Given the description of an element on the screen output the (x, y) to click on. 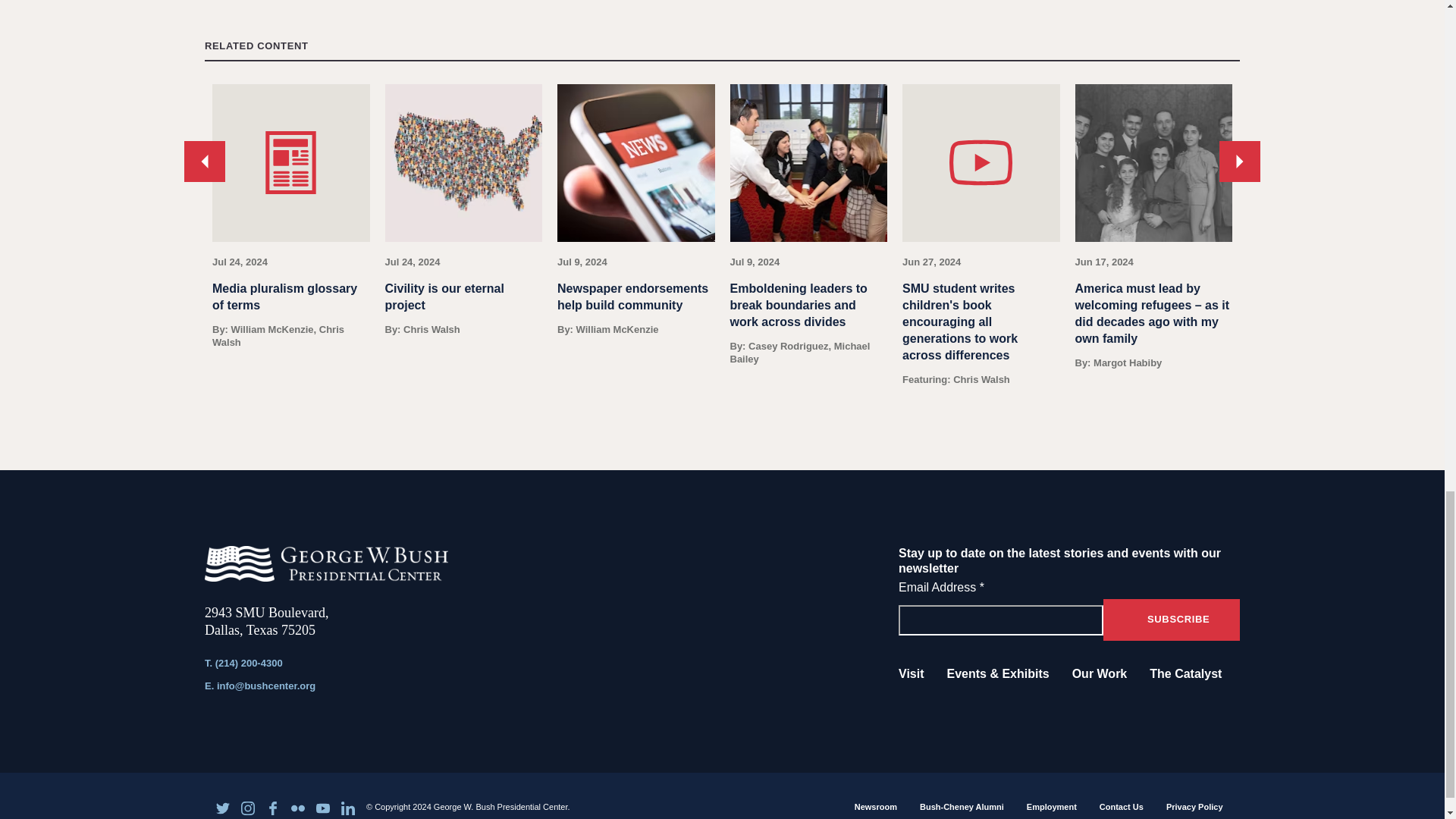
Subscribe (1171, 619)
